Given the description of an element on the screen output the (x, y) to click on. 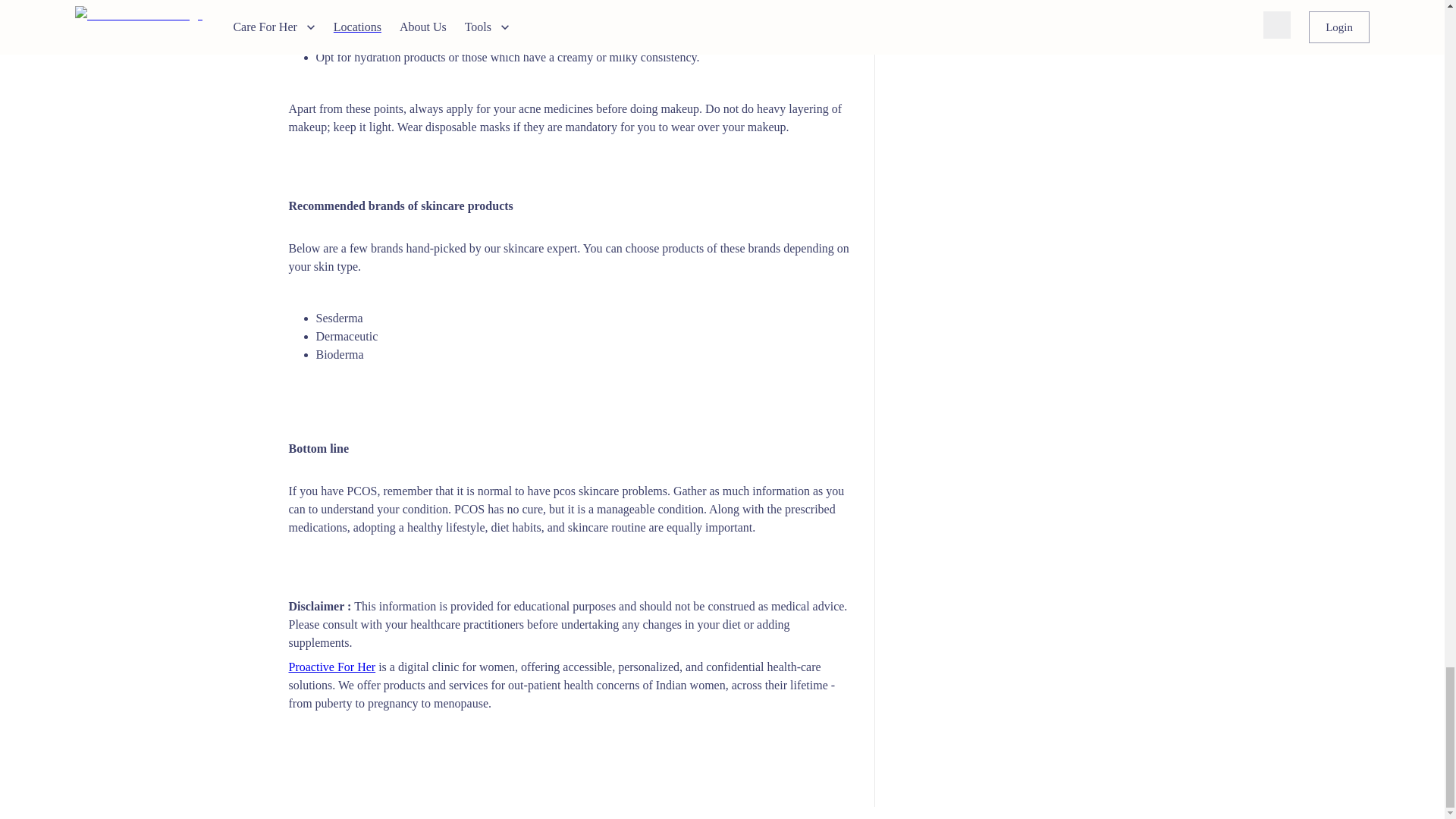
Proactive For Her (331, 666)
